Given the description of an element on the screen output the (x, y) to click on. 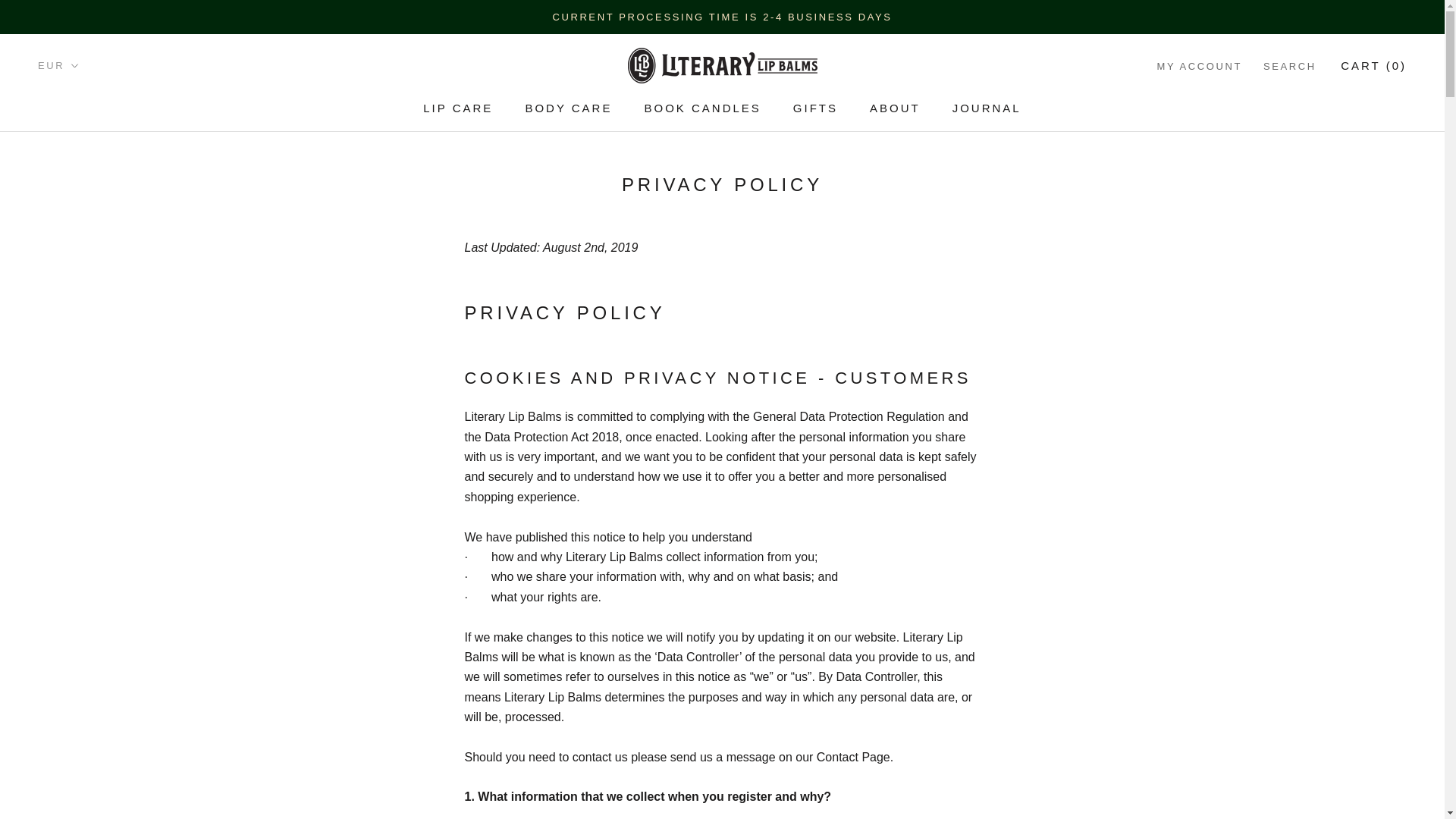
ABOUT (815, 107)
Currency selector (894, 107)
CURRENT PROCESSING TIME IS 2-4 BUSINESS DAYS (701, 107)
BODY CARE (458, 107)
